Given the description of an element on the screen output the (x, y) to click on. 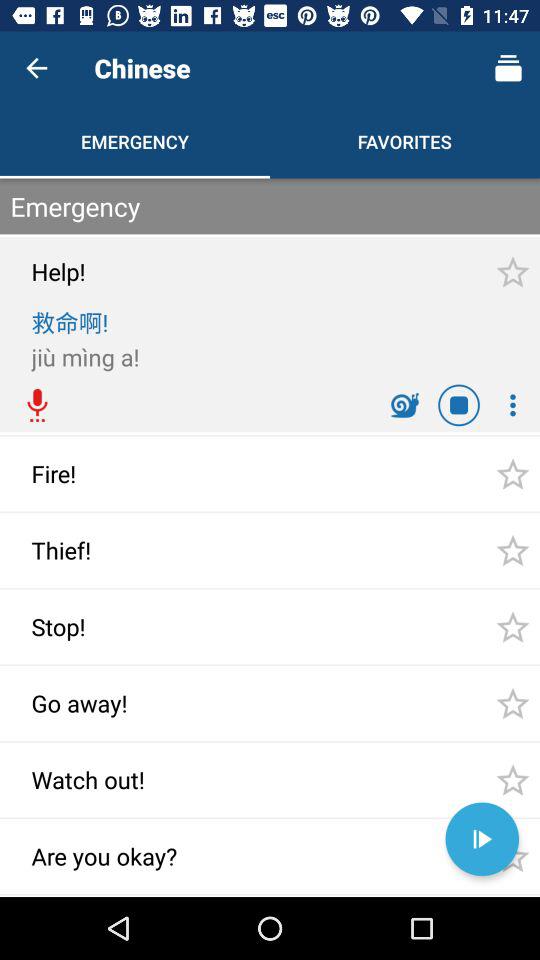
click on the middle icon on the top of first star symbol (458, 405)
